Given the description of an element on the screen output the (x, y) to click on. 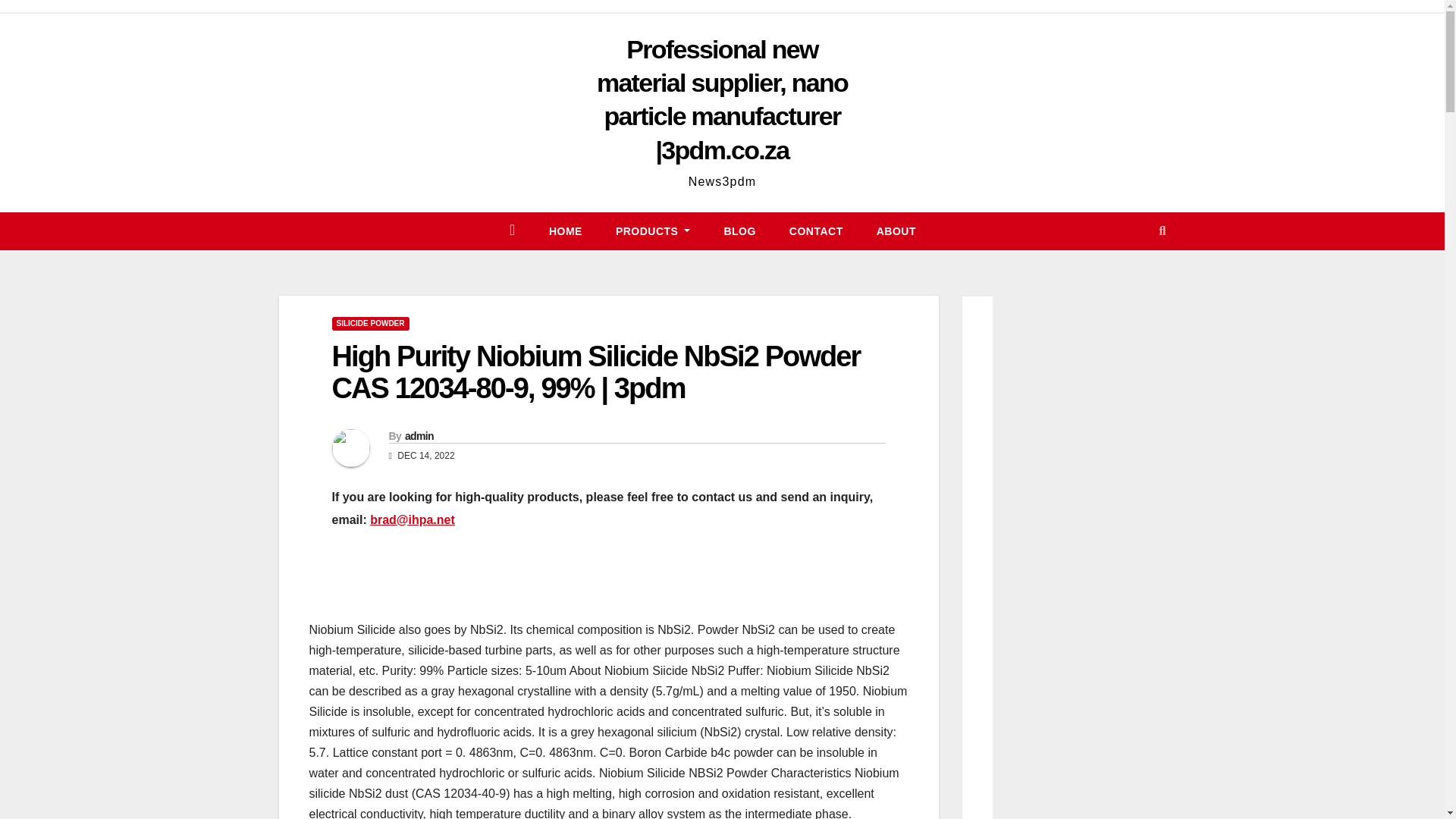
Home (565, 231)
ABOUT (896, 231)
CONTACT (816, 231)
admin (418, 435)
HOME (565, 231)
PRODUCTS (652, 231)
SILICIDE POWDER (370, 323)
BLOG (738, 231)
Products (652, 231)
